Given the description of an element on the screen output the (x, y) to click on. 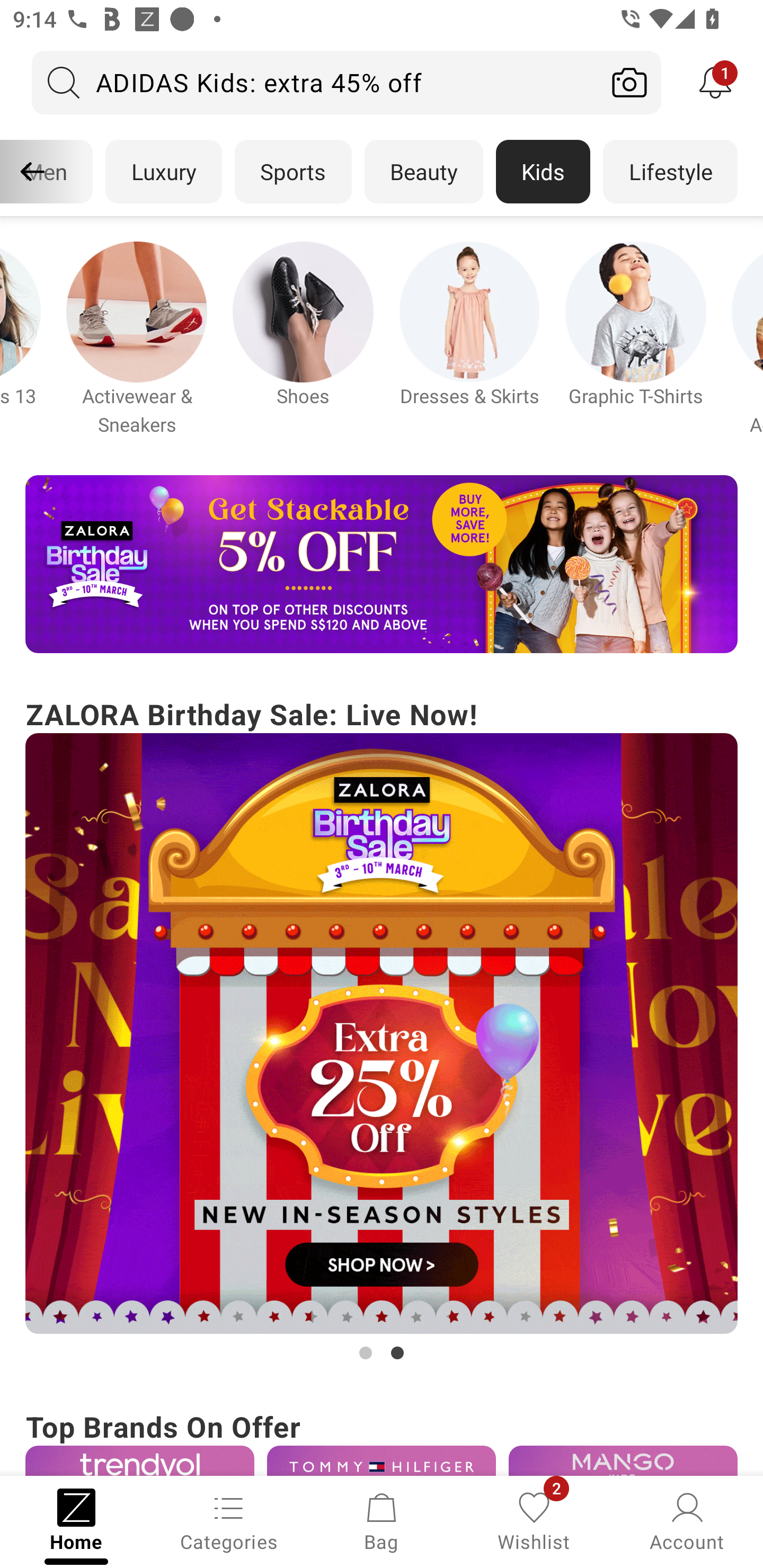
ADIDAS Kids: extra 45% off (314, 82)
Luxury (163, 171)
Sports (293, 171)
Beauty (423, 171)
Kids (542, 171)
Lifestyle (669, 171)
Campaign banner (136, 311)
Campaign banner (302, 311)
Campaign banner (469, 311)
Campaign banner (635, 311)
Campaign banner (381, 564)
ZALORA Birthday Sale: Live Now! Campaign banner (381, 1028)
Campaign banner (381, 1033)
Campaign banner (139, 1460)
Campaign banner (381, 1460)
Campaign banner (622, 1460)
Categories (228, 1519)
Bag (381, 1519)
Wishlist, 2 new notifications Wishlist (533, 1519)
Account (686, 1519)
